Given the description of an element on the screen output the (x, y) to click on. 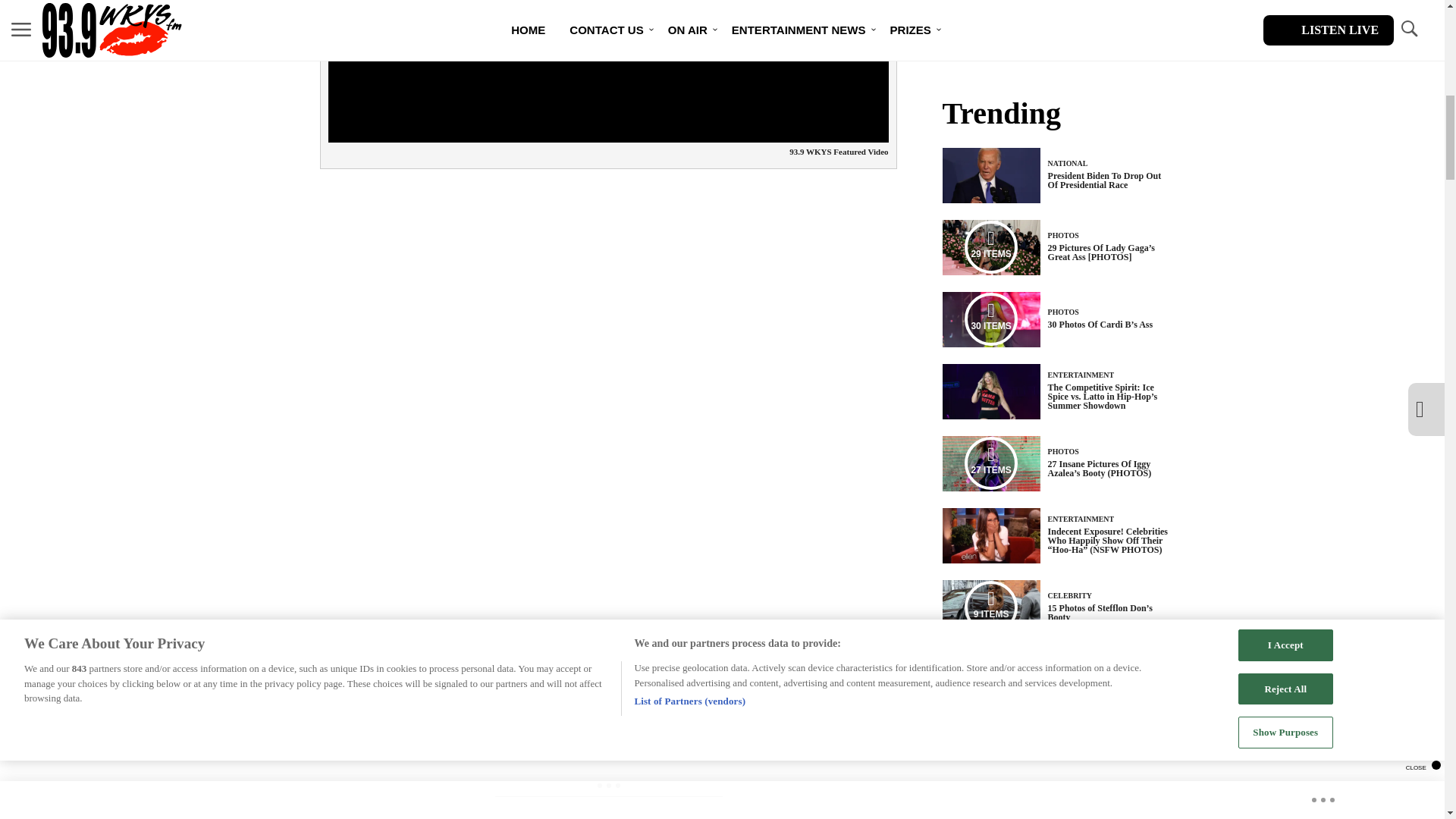
Media Playlist (990, 246)
Media Playlist (990, 606)
According to the Atlanta Journal Constitution (441, 672)
Media Playlist (990, 318)
Media Playlist (990, 462)
